Given the description of an element on the screen output the (x, y) to click on. 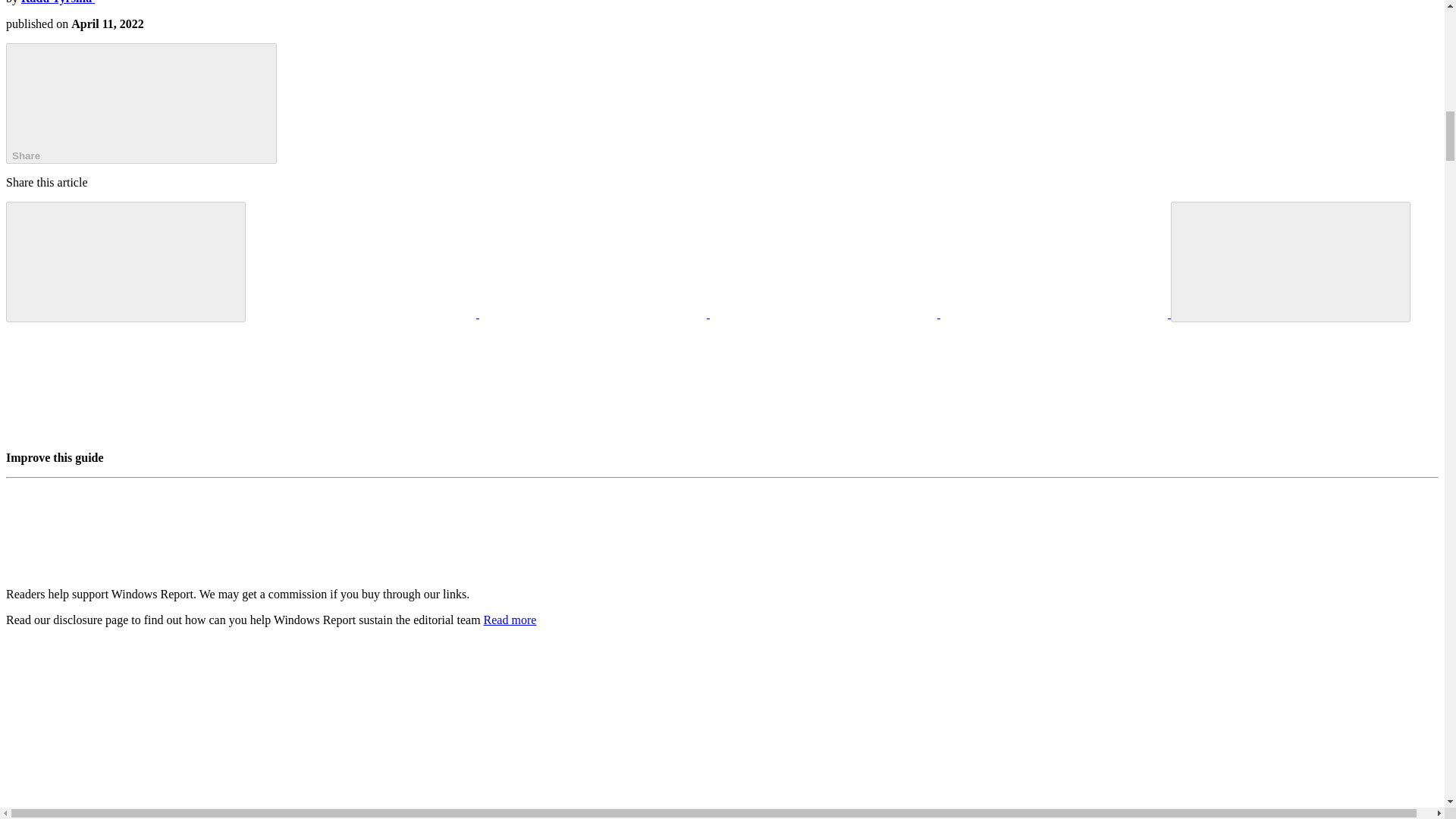
Share this article (140, 103)
Radu Tyrsina  (57, 2)
